Given the description of an element on the screen output the (x, y) to click on. 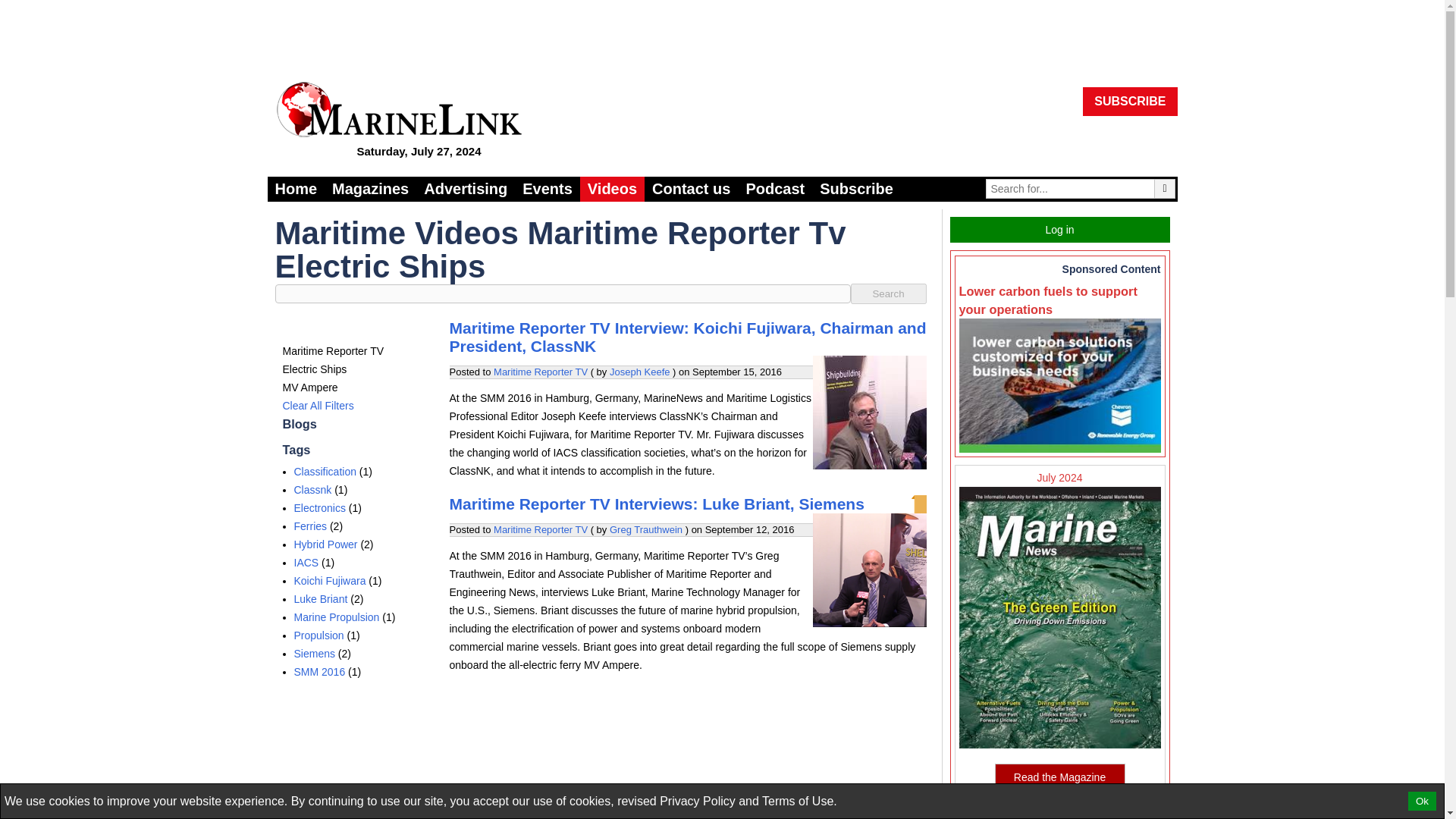
Contact us (691, 188)
Electronics (320, 508)
Hybrid Power (326, 544)
Subscribe (856, 188)
SUBSCRIBE (1129, 101)
Home (295, 188)
IACS (306, 562)
Greg Trauthwein (646, 529)
Advertising (465, 188)
 Maritime Advertising (465, 188)
Propulsion (318, 635)
Magazines (370, 188)
Maritime Reporter TV (540, 529)
Maritime Reporter TV Interviews: Luke Briant, Siemens (655, 503)
Luke Briant (320, 598)
